Given the description of an element on the screen output the (x, y) to click on. 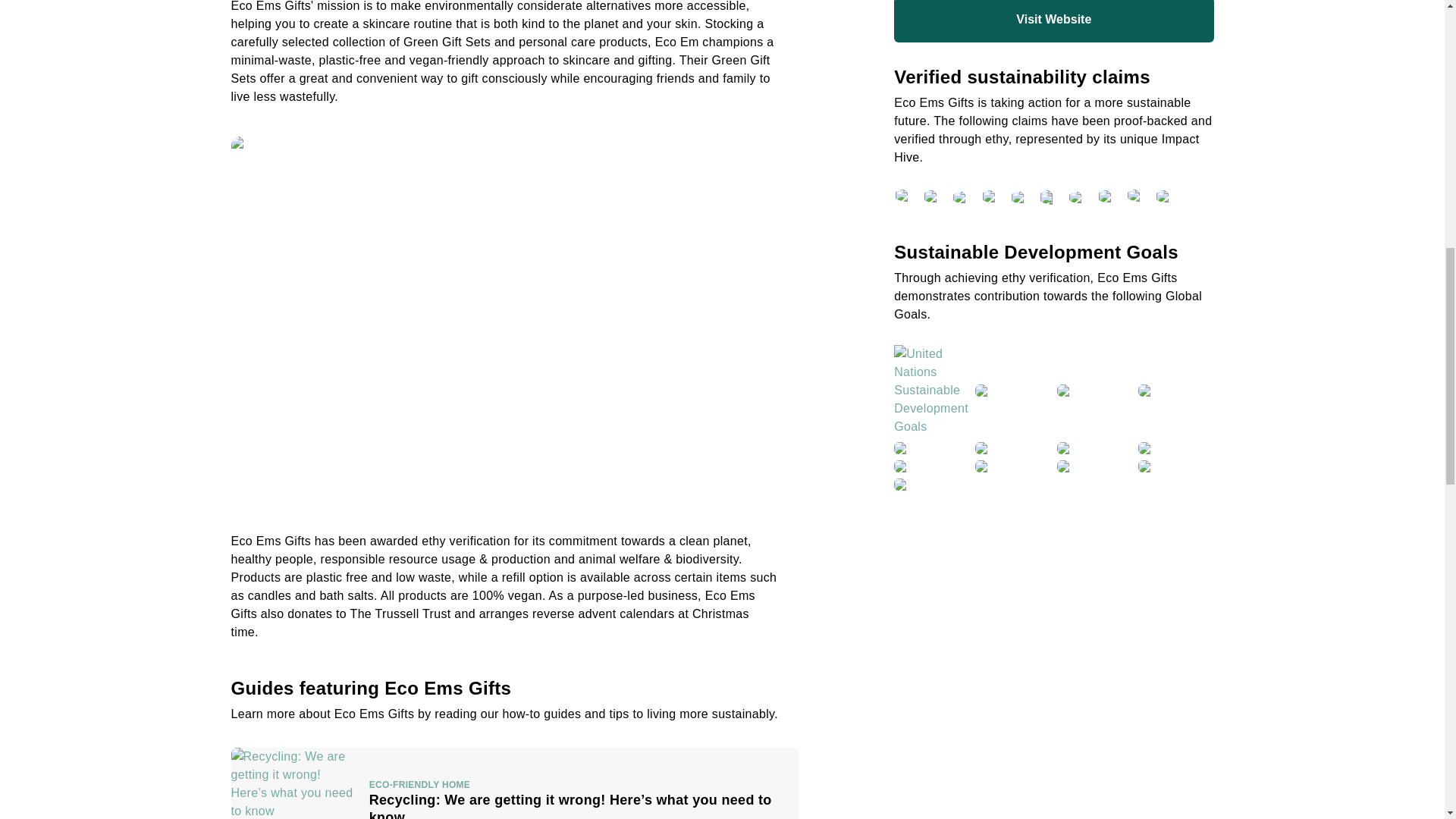
Visit Website (1052, 21)
